Given the description of an element on the screen output the (x, y) to click on. 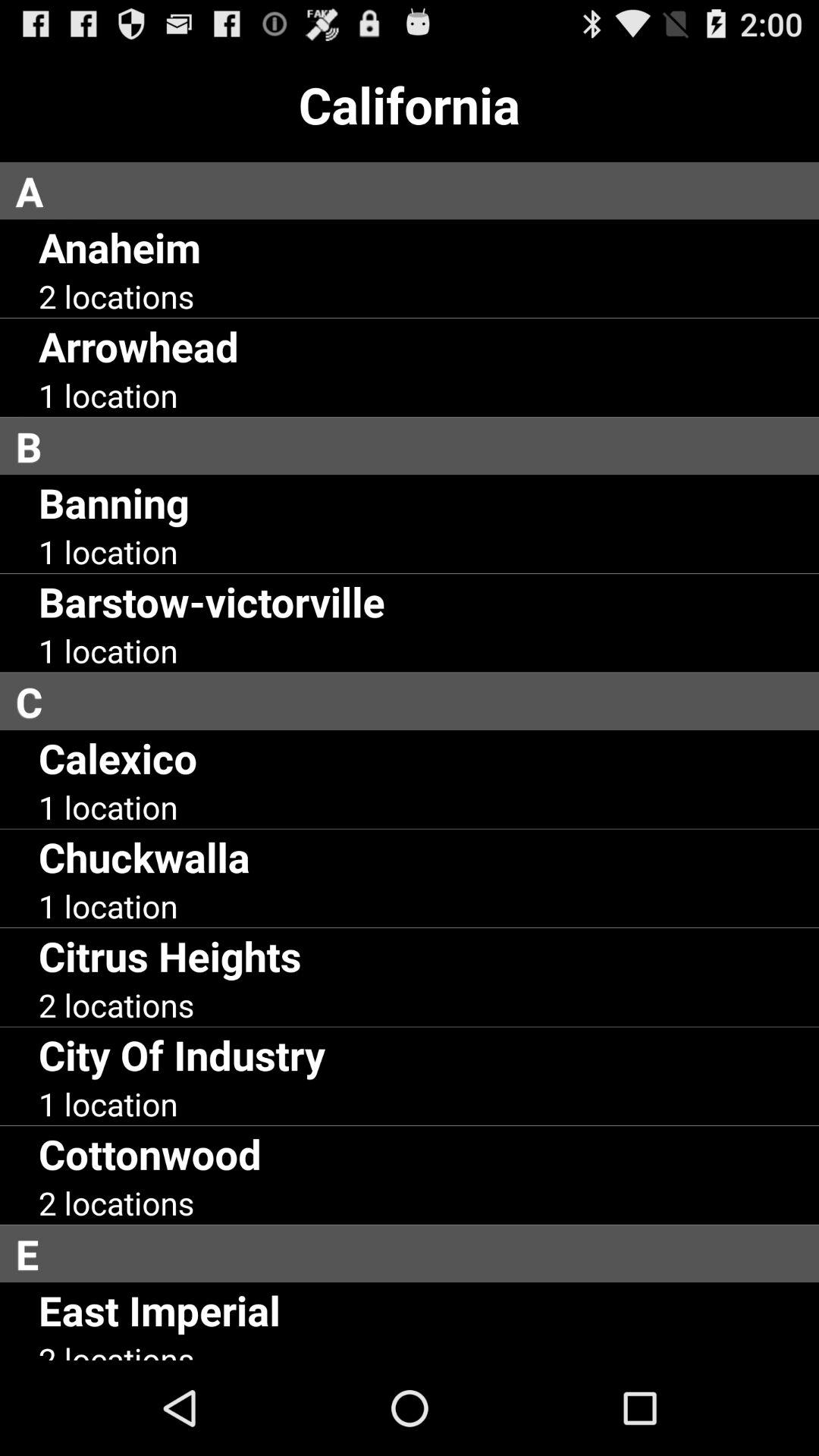
swipe until barstow-victorville icon (211, 601)
